Given the description of an element on the screen output the (x, y) to click on. 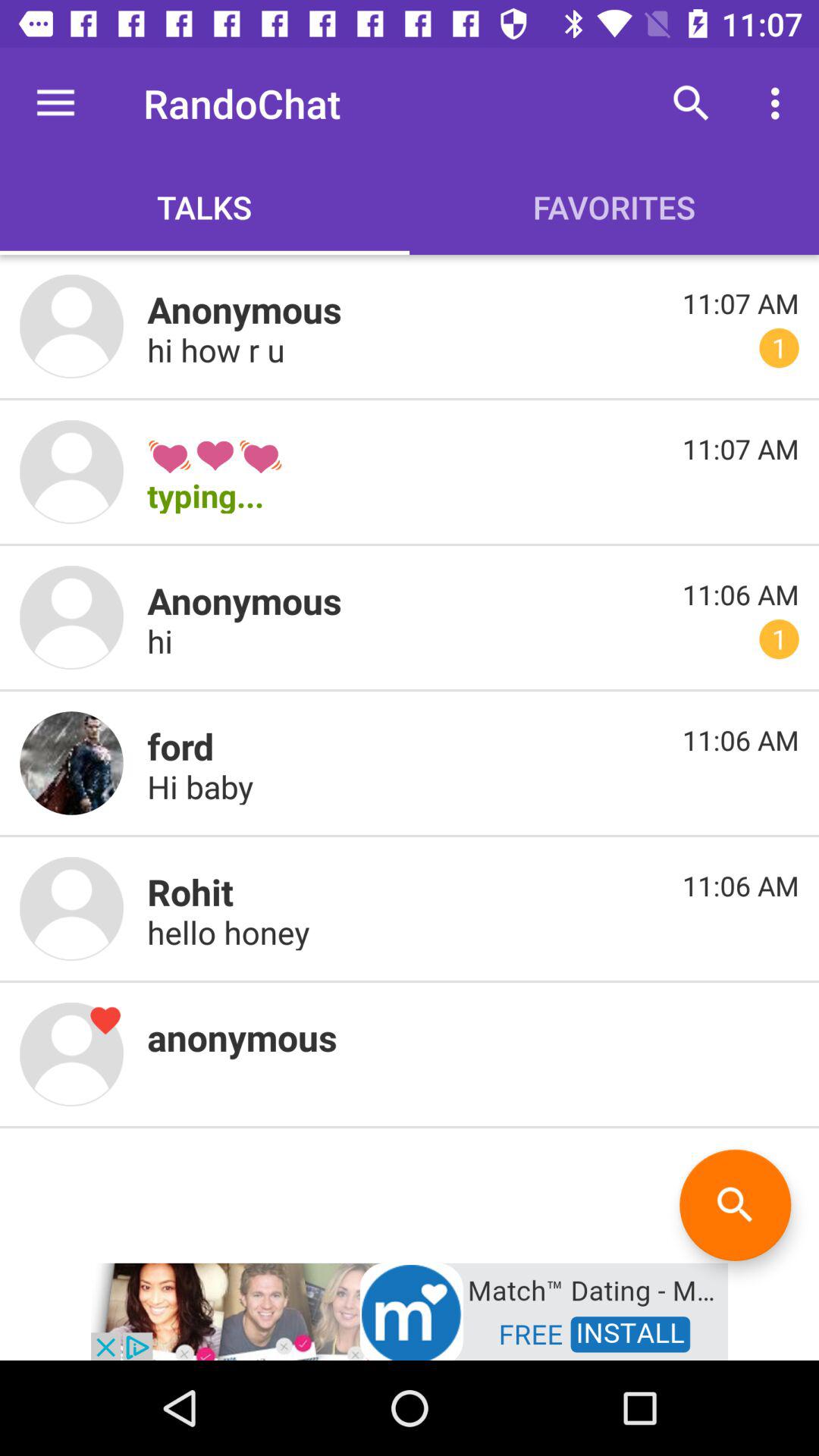
profile (71, 471)
